Given the description of an element on the screen output the (x, y) to click on. 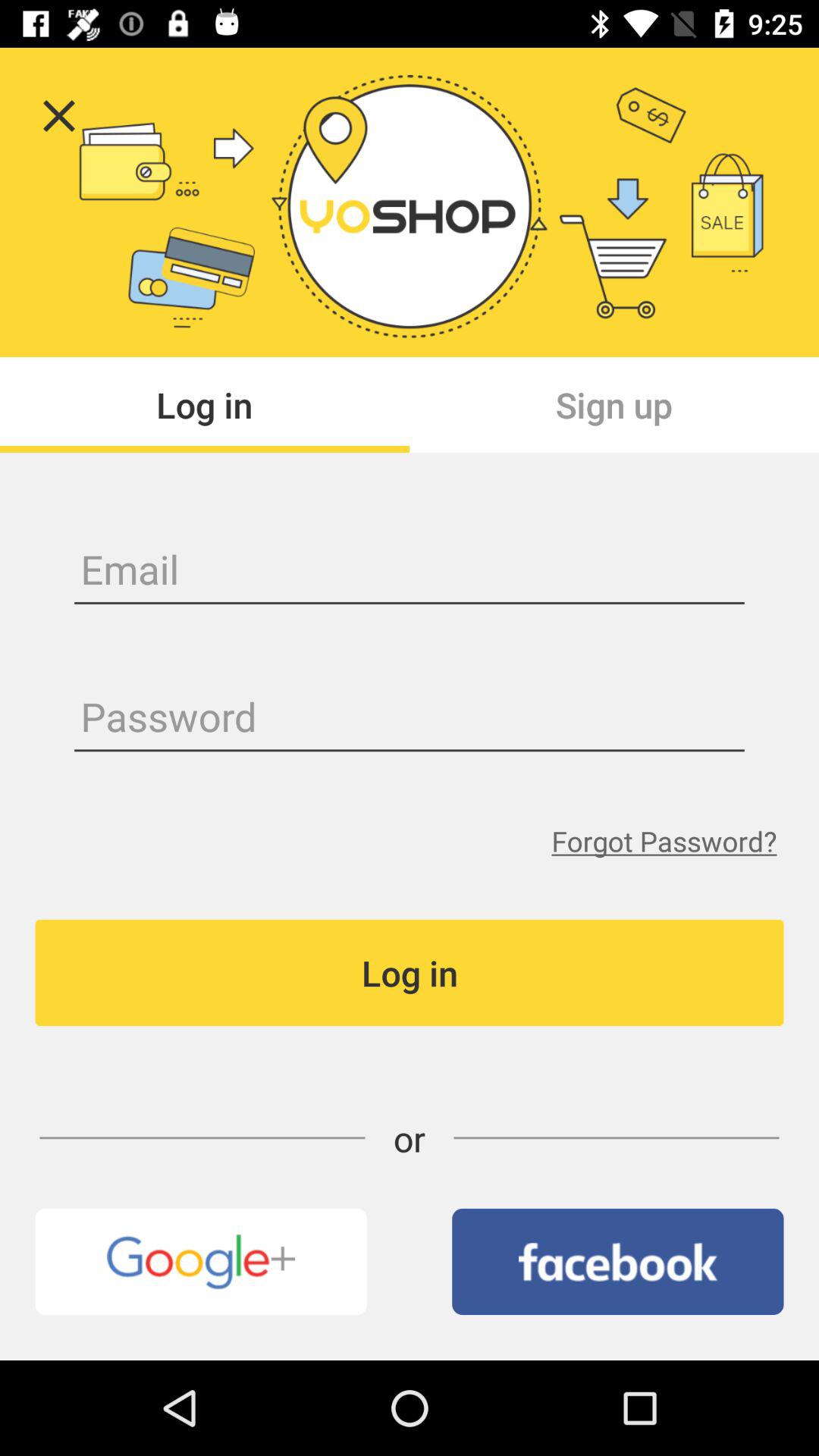
click for google+ login (200, 1261)
